Given the description of an element on the screen output the (x, y) to click on. 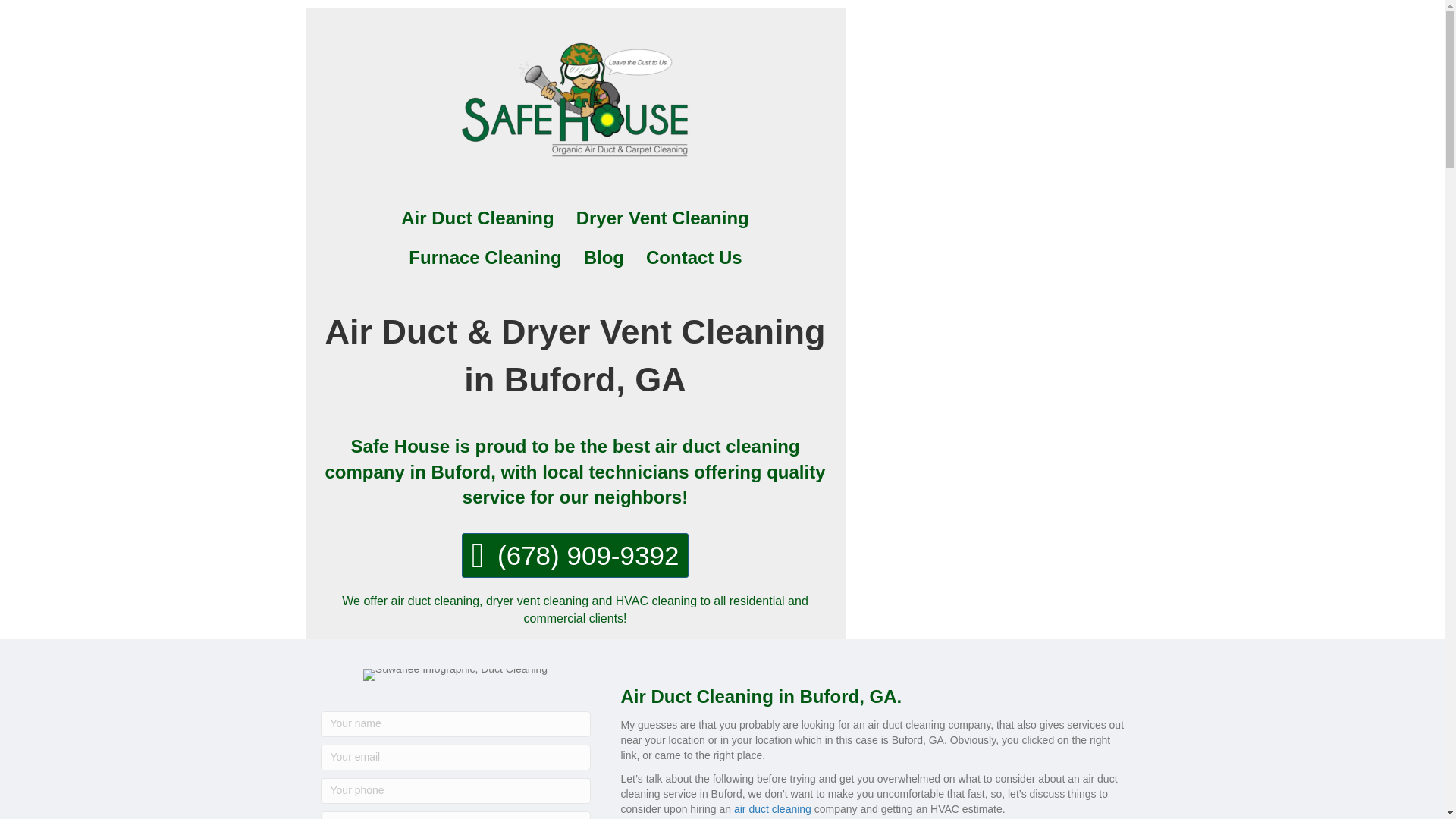
Contact Us (693, 257)
Blog (603, 257)
air duct cleaning (770, 808)
Dryer Vent Cleaning (663, 218)
Furnace Cleaning (484, 257)
Air Duct Cleaning (477, 218)
Safe House Logo (574, 95)
